Given the description of an element on the screen output the (x, y) to click on. 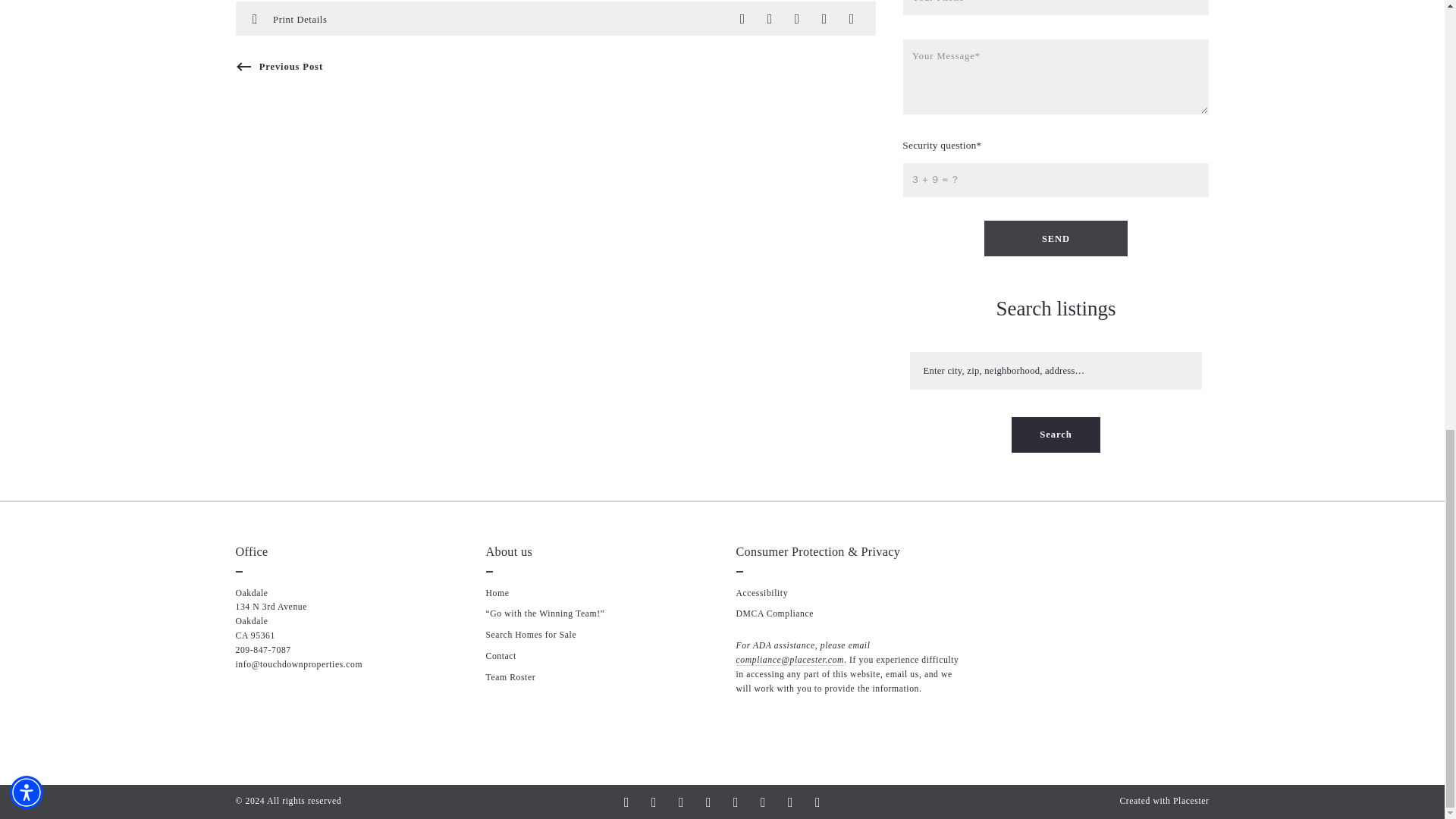
DMCA Compliance (774, 614)
SEND (1055, 238)
Search Homes for Sale (530, 634)
Search (1055, 434)
Contact (499, 655)
209-847-7087 (261, 650)
Home (496, 593)
Team Roster (509, 677)
Print Details (300, 18)
Previous Post (277, 66)
Accessibility (761, 593)
